Given the description of an element on the screen output the (x, y) to click on. 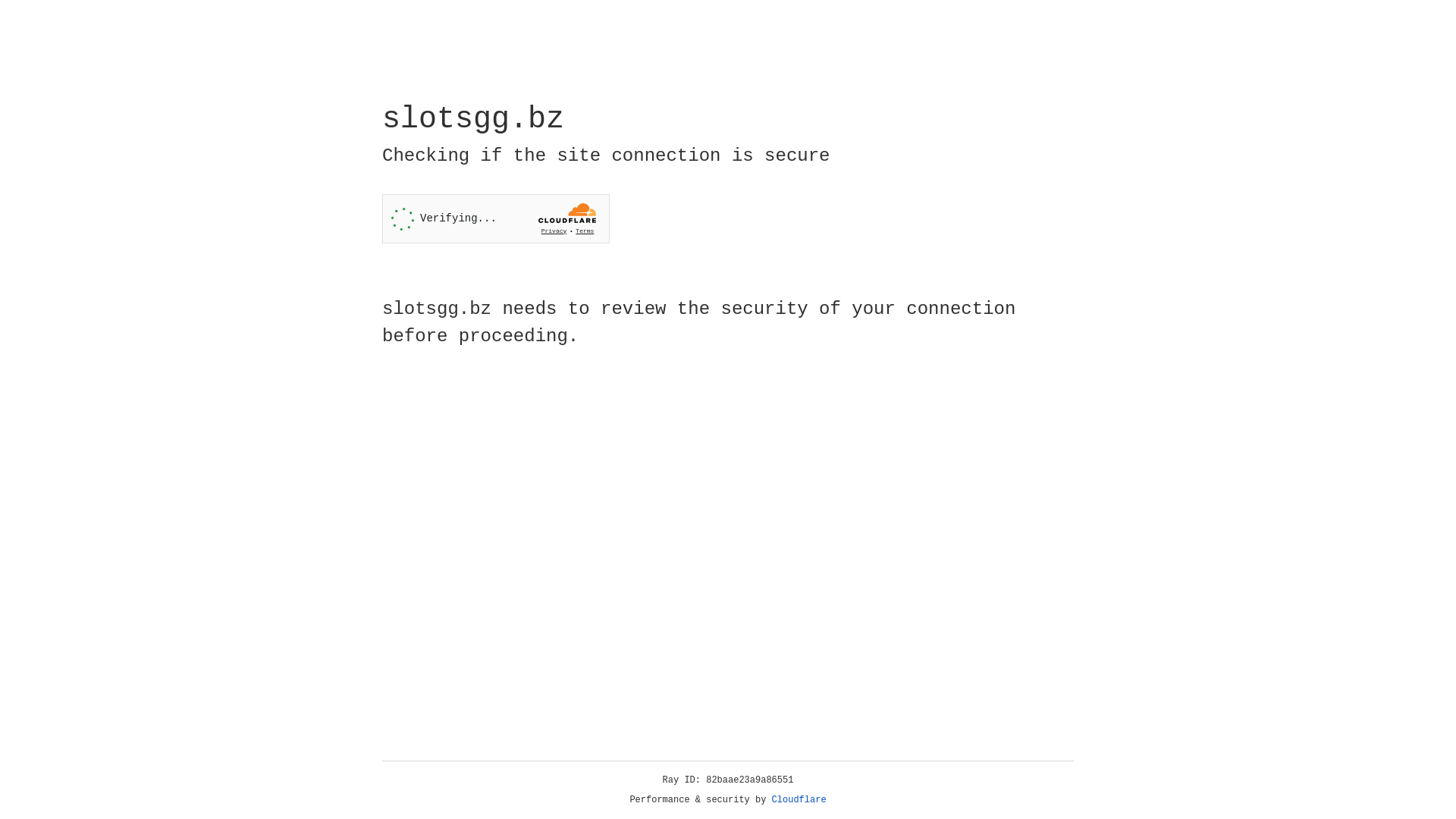
Widget containing a Cloudflare security challenge Element type: hover (495, 218)
Cloudflare Element type: text (798, 799)
